Given the description of an element on the screen output the (x, y) to click on. 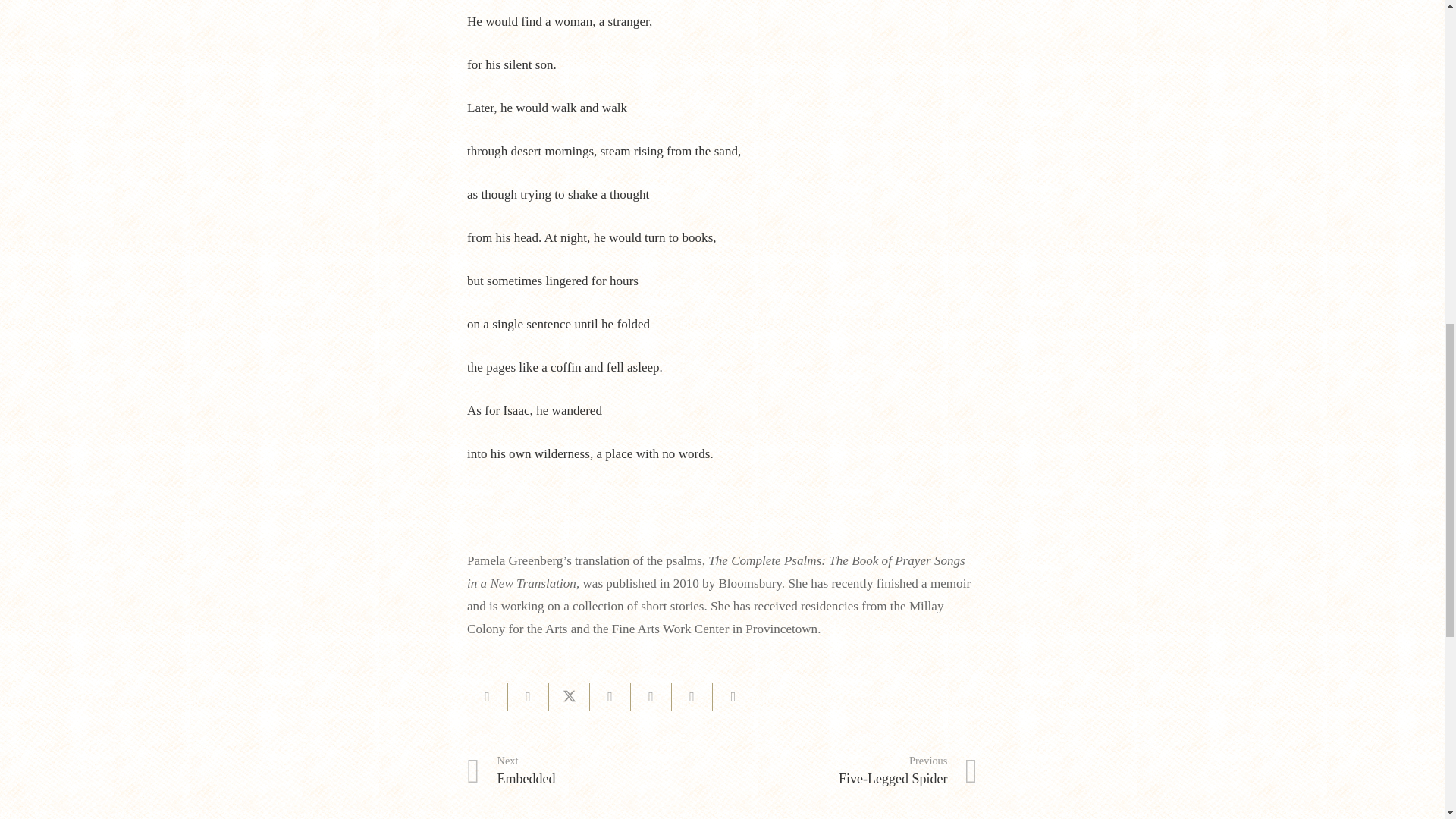
Share this (692, 696)
Pin this (849, 771)
Share this (650, 696)
Back to top (528, 696)
Five-Legged Spider (1413, 26)
Share this (849, 771)
Email this (733, 696)
Share this (487, 696)
Embedded (609, 696)
Tweet this (594, 771)
